Given the description of an element on the screen output the (x, y) to click on. 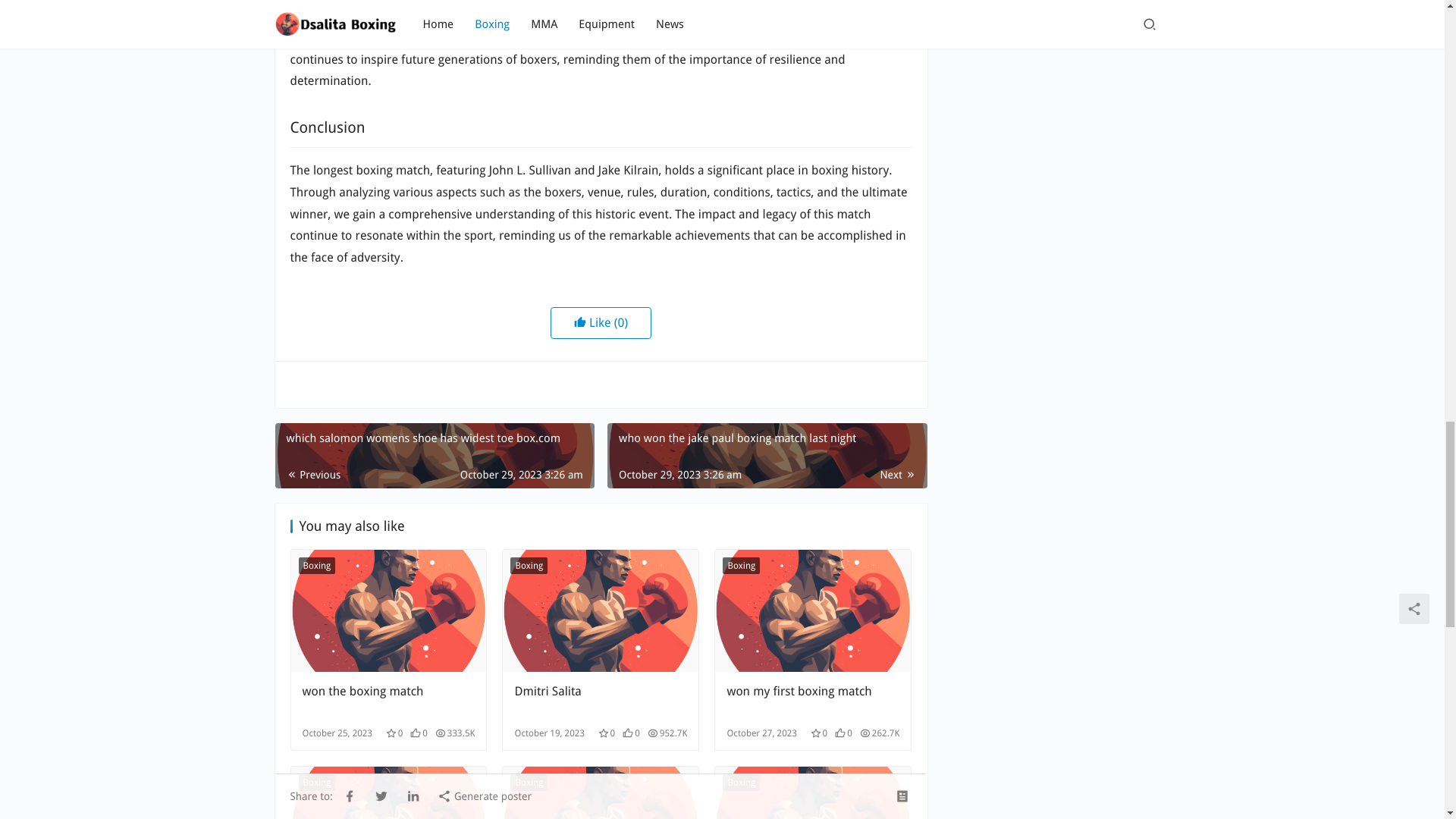
who won the jake paul boxing match last night (766, 455)
Dmitri Salita (600, 610)
which salomon womens shoe has widest toe box.com (434, 455)
won the boxing match (387, 699)
Boxing (529, 565)
will smith vs chris rock boxing match (388, 792)
won the boxing match (387, 699)
which salomon womens shoe has widest toe box.com (434, 455)
Dmitri Salita (600, 699)
Boxing (741, 782)
who won the wilder vs fury boxing match (812, 792)
Boxing (317, 565)
won my first boxing match (812, 610)
won my first boxing match (812, 699)
Boxing (741, 565)
